Given the description of an element on the screen output the (x, y) to click on. 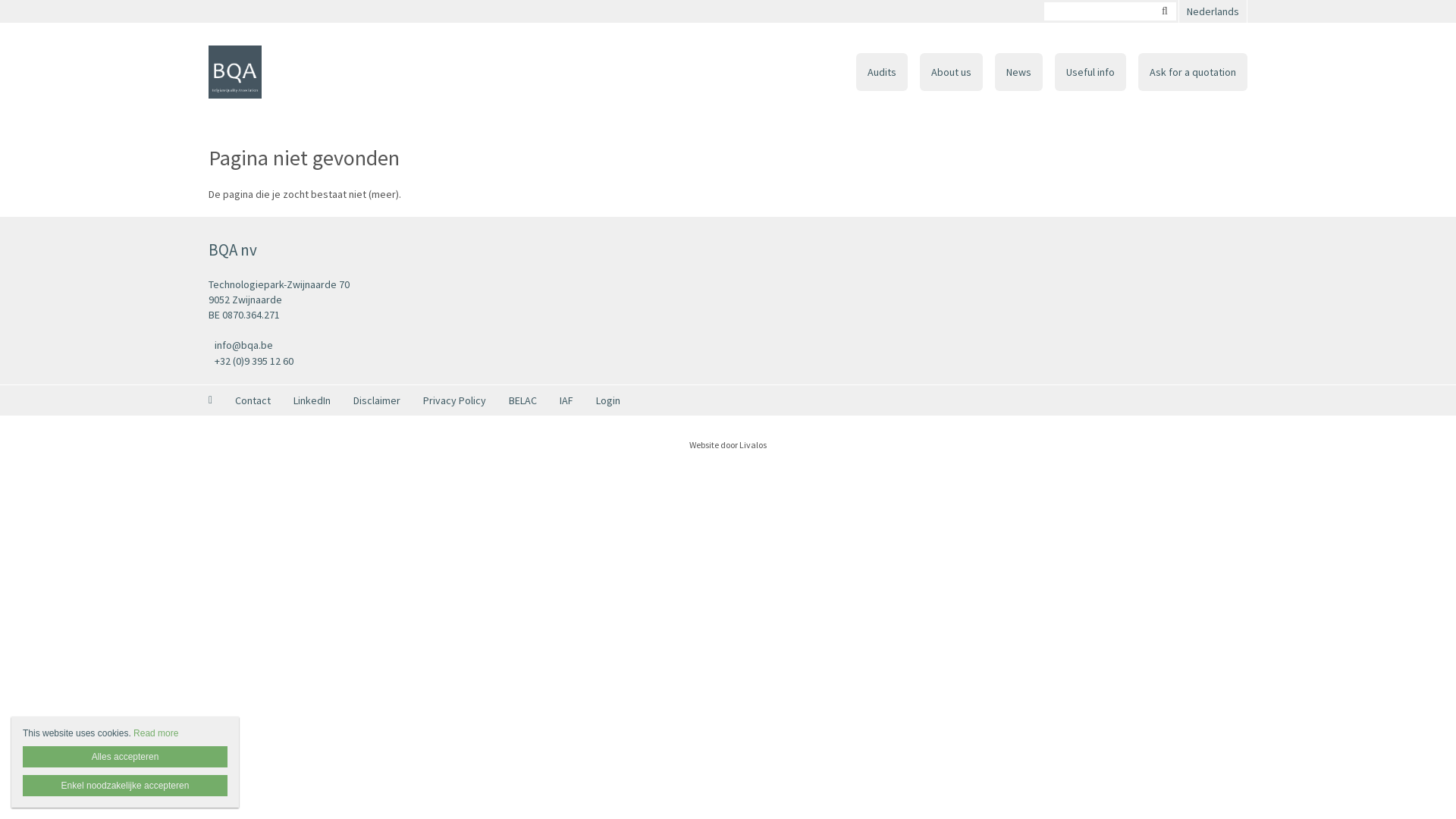
Nederlands Element type: text (1213, 11)
News Element type: text (1018, 72)
Privacy Policy Element type: text (454, 400)
Website door Livalos Element type: text (727, 444)
info@bqa.be Element type: text (462, 345)
About us Element type: text (950, 72)
LinkedIn Element type: text (311, 400)
Home | BQA Element type: hover (257, 71)
Useful info Element type: text (1090, 72)
Zoeken Element type: text (1164, 11)
Disclaimer Element type: text (376, 400)
Contact Element type: text (252, 400)
IAF Element type: text (566, 400)
BELAC Element type: text (522, 400)
Read more Element type: text (155, 733)
Login Element type: text (608, 400)
Skip to main content Element type: text (48, 0)
Ask for a quotation Element type: text (1192, 72)
Enkel noodzakelijke accepteren Element type: text (124, 785)
Home | BQA Element type: hover (234, 71)
Audits Element type: text (881, 72)
+32 (0)9 395 12 60 Element type: text (462, 361)
Alles accepteren Element type: text (124, 756)
